Given the description of an element on the screen output the (x, y) to click on. 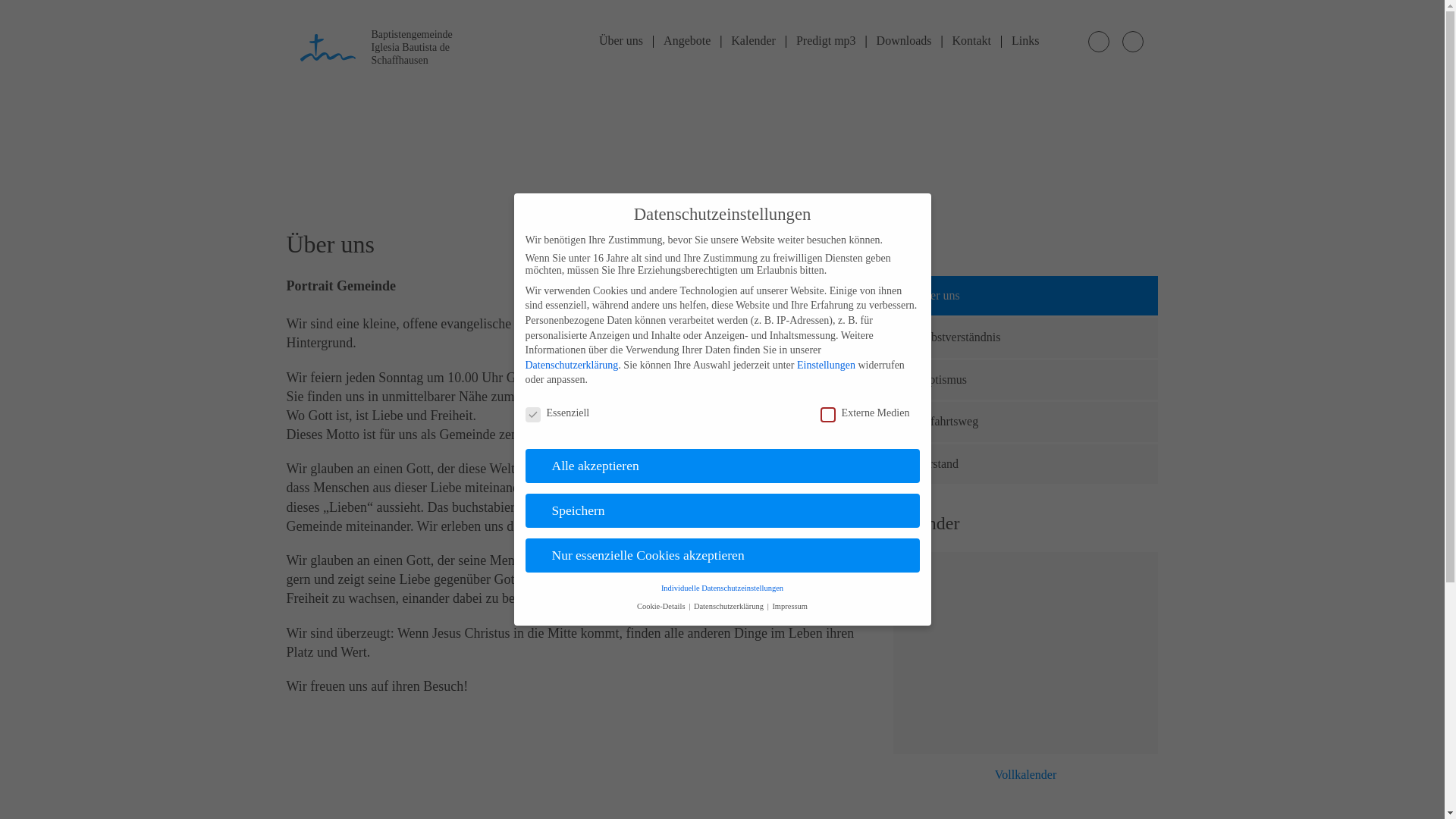
Predigt mp3 Element type: text (826, 40)
Angebote Element type: text (686, 40)
Baptistengemeinde Iglesia Bautista de Schaffhausen Element type: text (391, 45)
Alle akzeptieren Element type: text (721, 465)
Links Element type: text (1024, 40)
Cookie-Details Element type: text (662, 606)
Nur essenzielle Cookies akzeptieren Element type: text (721, 555)
Vollkalender Element type: text (1025, 774)
Speichern Element type: text (721, 510)
Vorstand Element type: text (1025, 463)
Impressum Element type: text (789, 606)
Anfahrtsweg Element type: text (1025, 421)
Kontakt Element type: text (971, 40)
Individuelle Datenschutzeinstellungen Element type: text (722, 587)
Baptismus Element type: text (1025, 379)
Einstellungen Element type: text (826, 364)
Downloads Element type: text (903, 40)
Kalender Element type: text (753, 40)
